Given the description of an element on the screen output the (x, y) to click on. 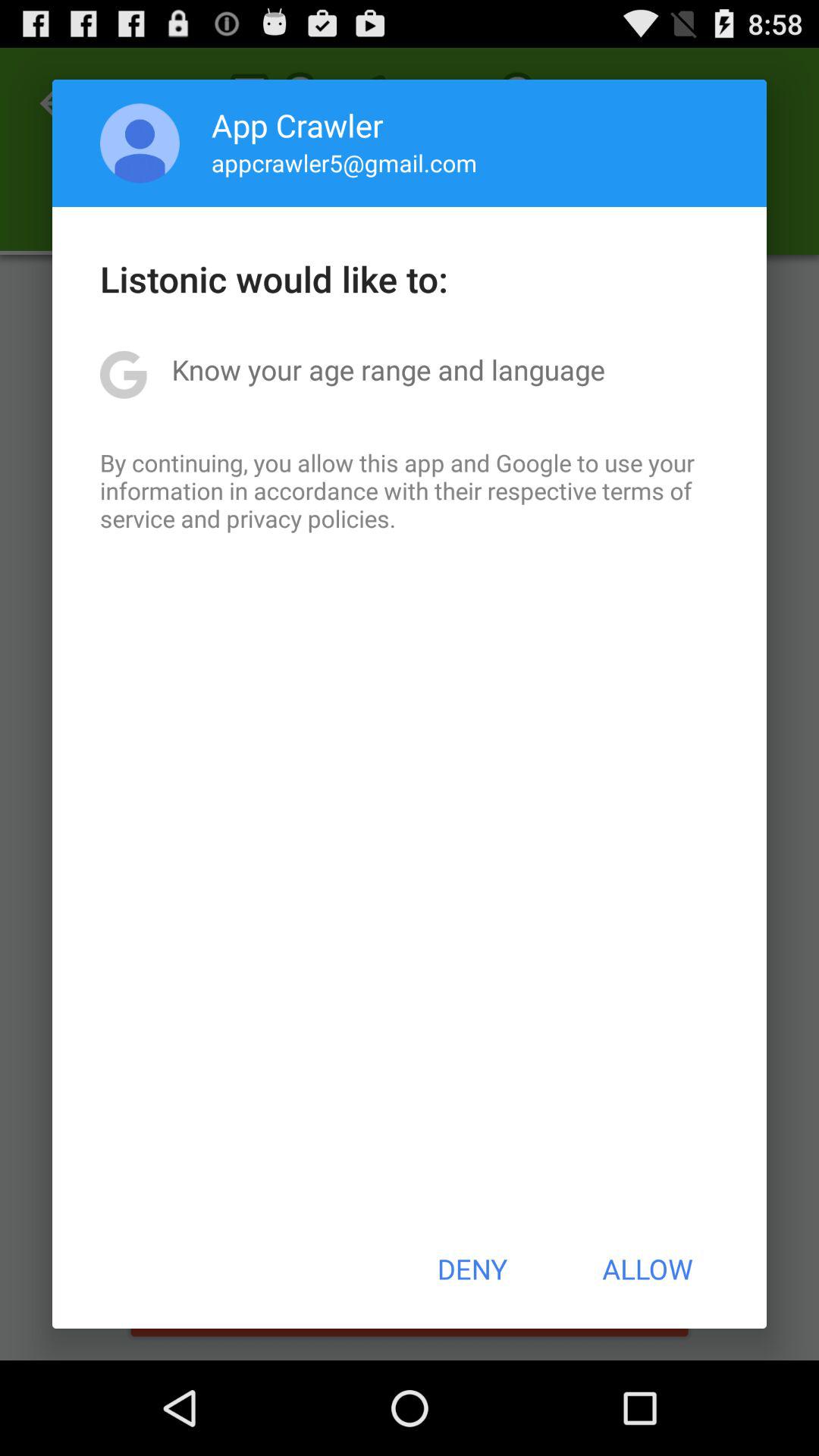
swipe until appcrawler5@gmail.com app (344, 162)
